Given the description of an element on the screen output the (x, y) to click on. 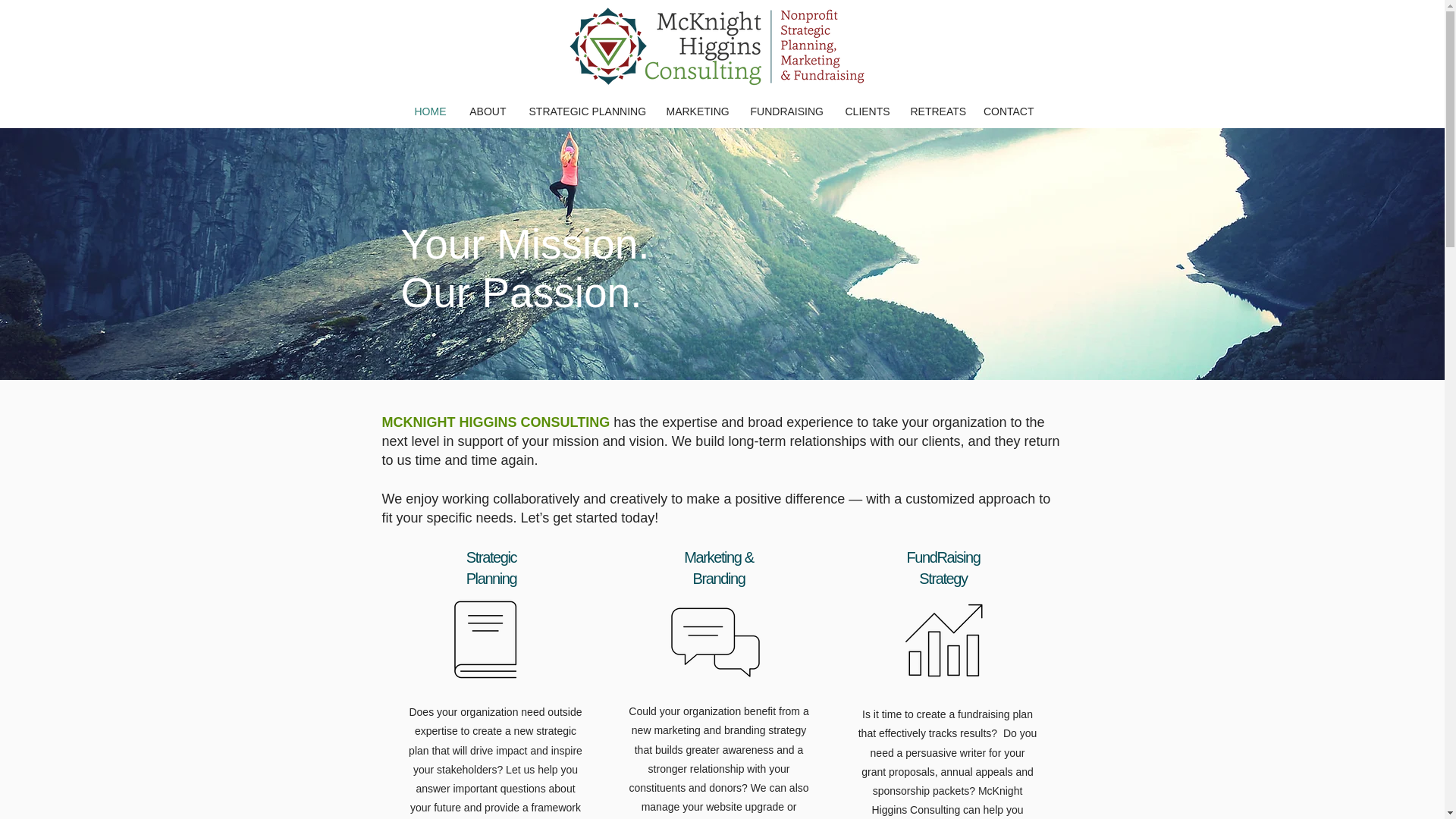
CLIENTS (866, 111)
STRATEGIC PLANNING (584, 111)
RETREATS (935, 111)
HOME (430, 111)
ABOUT (488, 111)
MARKETING (697, 111)
CONTACT (1008, 111)
FUNDRAISING (785, 111)
